Given the description of an element on the screen output the (x, y) to click on. 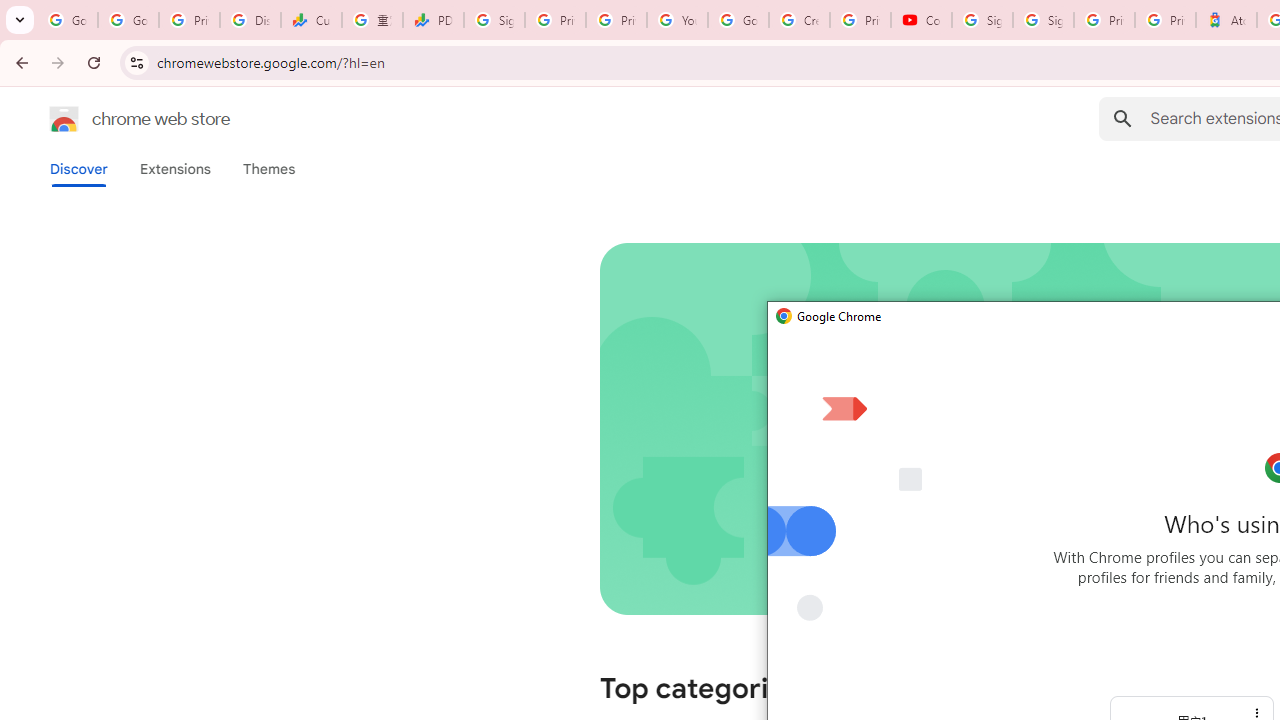
Create your Google Account (799, 20)
